Given the description of an element on the screen output the (x, y) to click on. 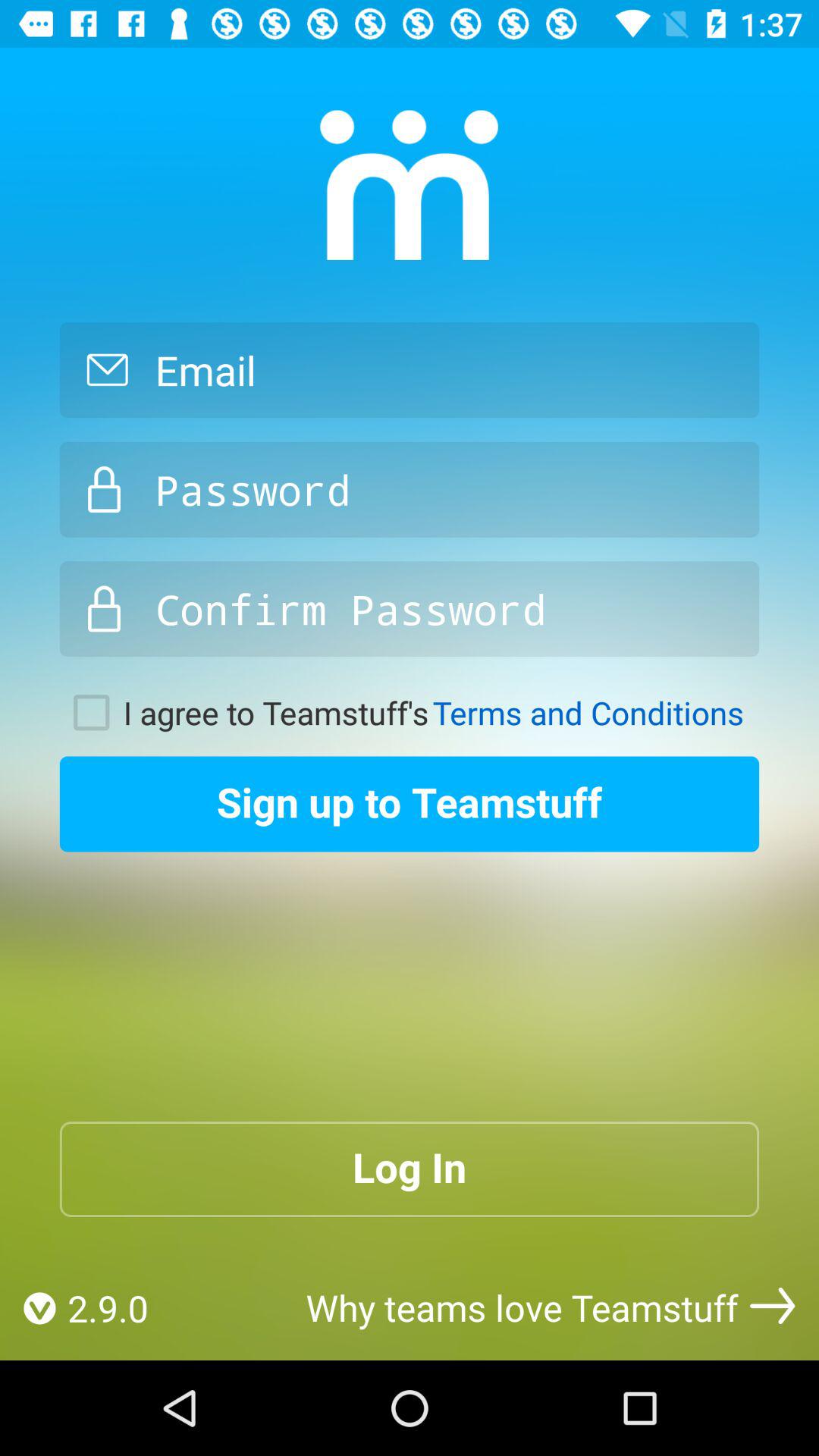
creat password (409, 489)
